Given the description of an element on the screen output the (x, y) to click on. 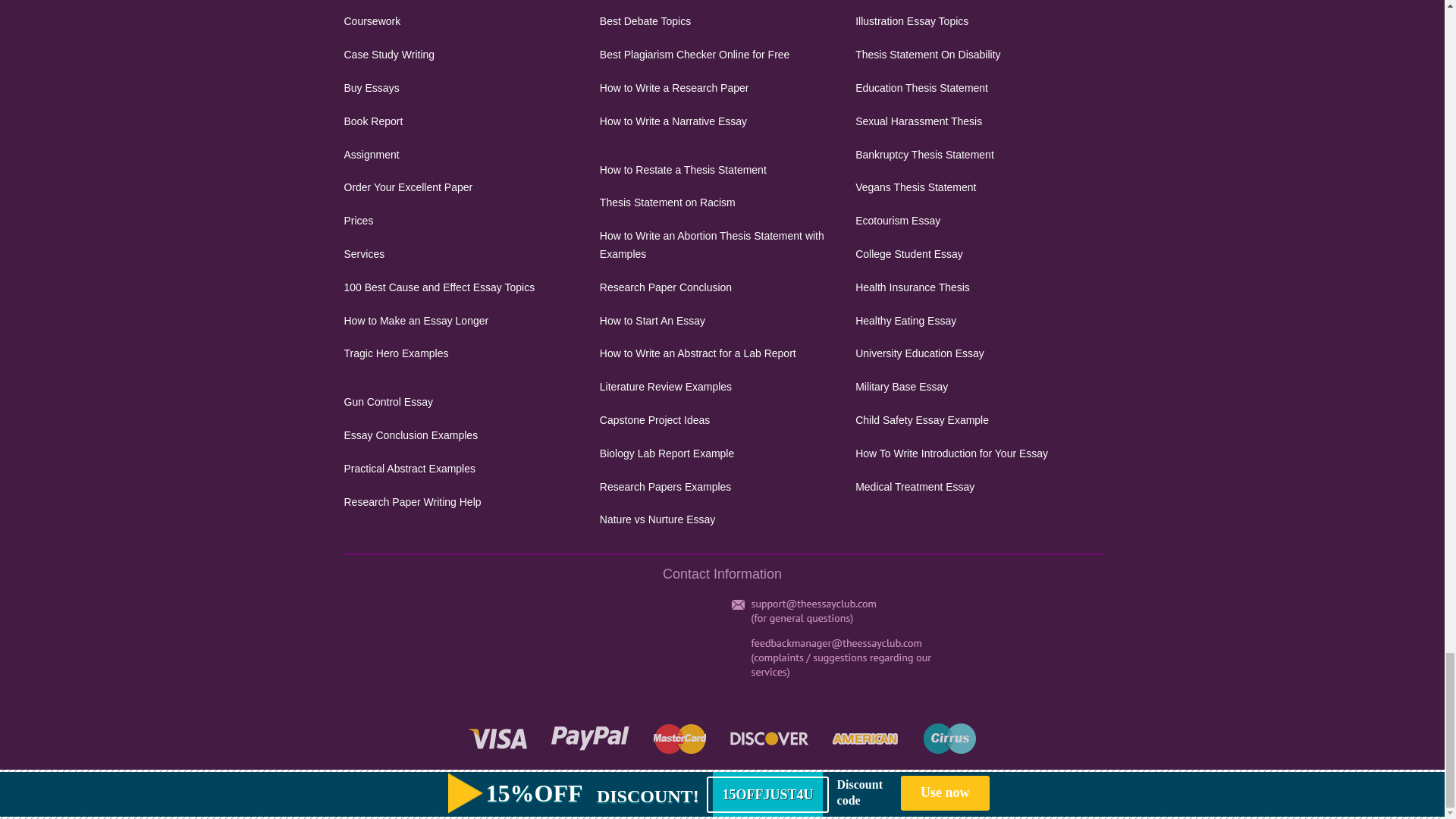
Buy Essays (466, 88)
Case Study Writing (466, 54)
How to Make an Essay Longer (466, 321)
Book Report (466, 122)
Tragic Hero Examples (466, 353)
Research Paper Writing Help (466, 502)
Prices (466, 221)
Assignment (466, 155)
Services (466, 254)
100 Best Cause and Effect Essay Topics (466, 288)
